Given the description of an element on the screen output the (x, y) to click on. 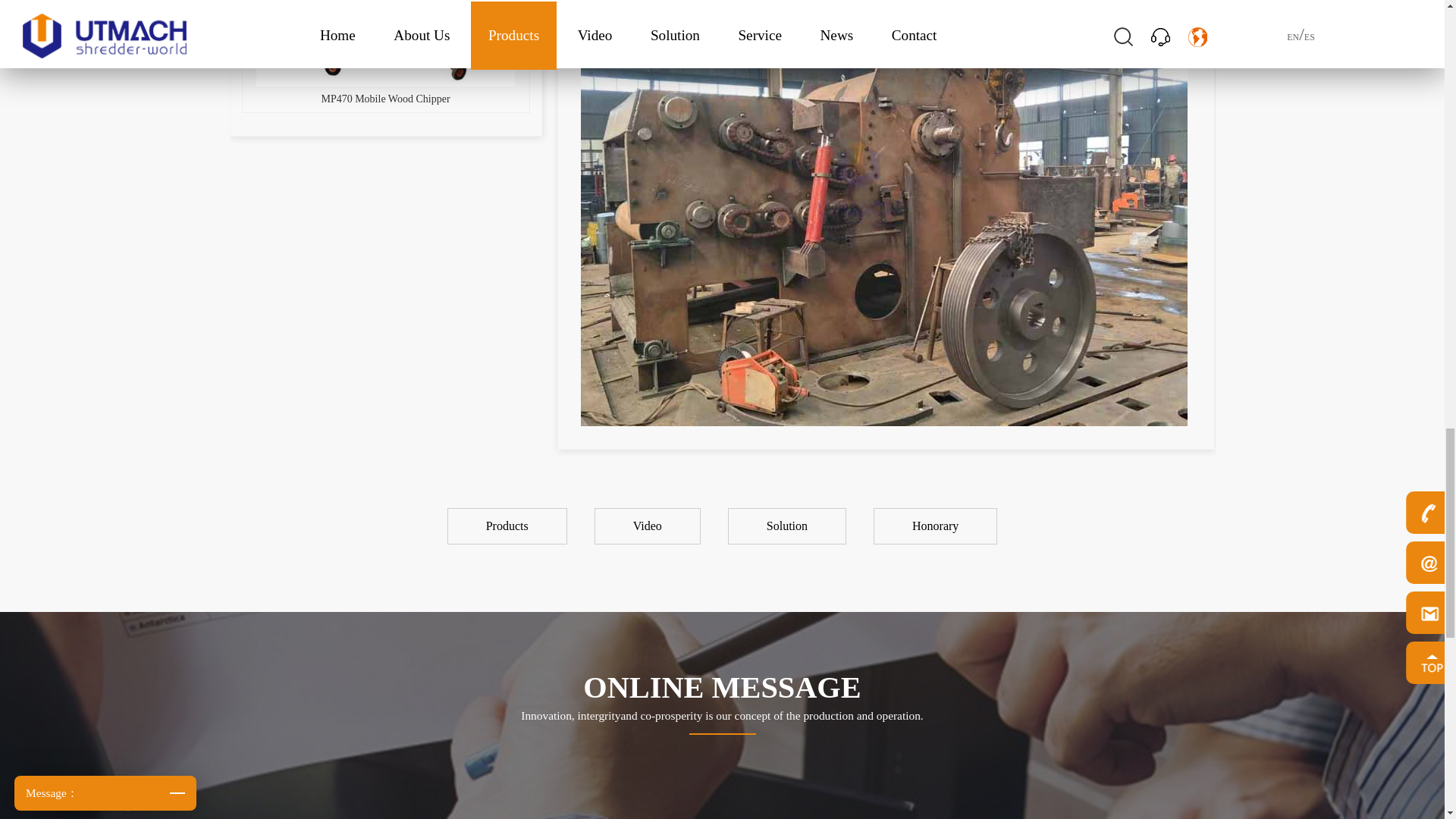
Products (508, 525)
Video (649, 525)
MP470 Mobile Wood Chipper (386, 56)
Honorary (935, 525)
Solution (788, 525)
